Given the description of an element on the screen output the (x, y) to click on. 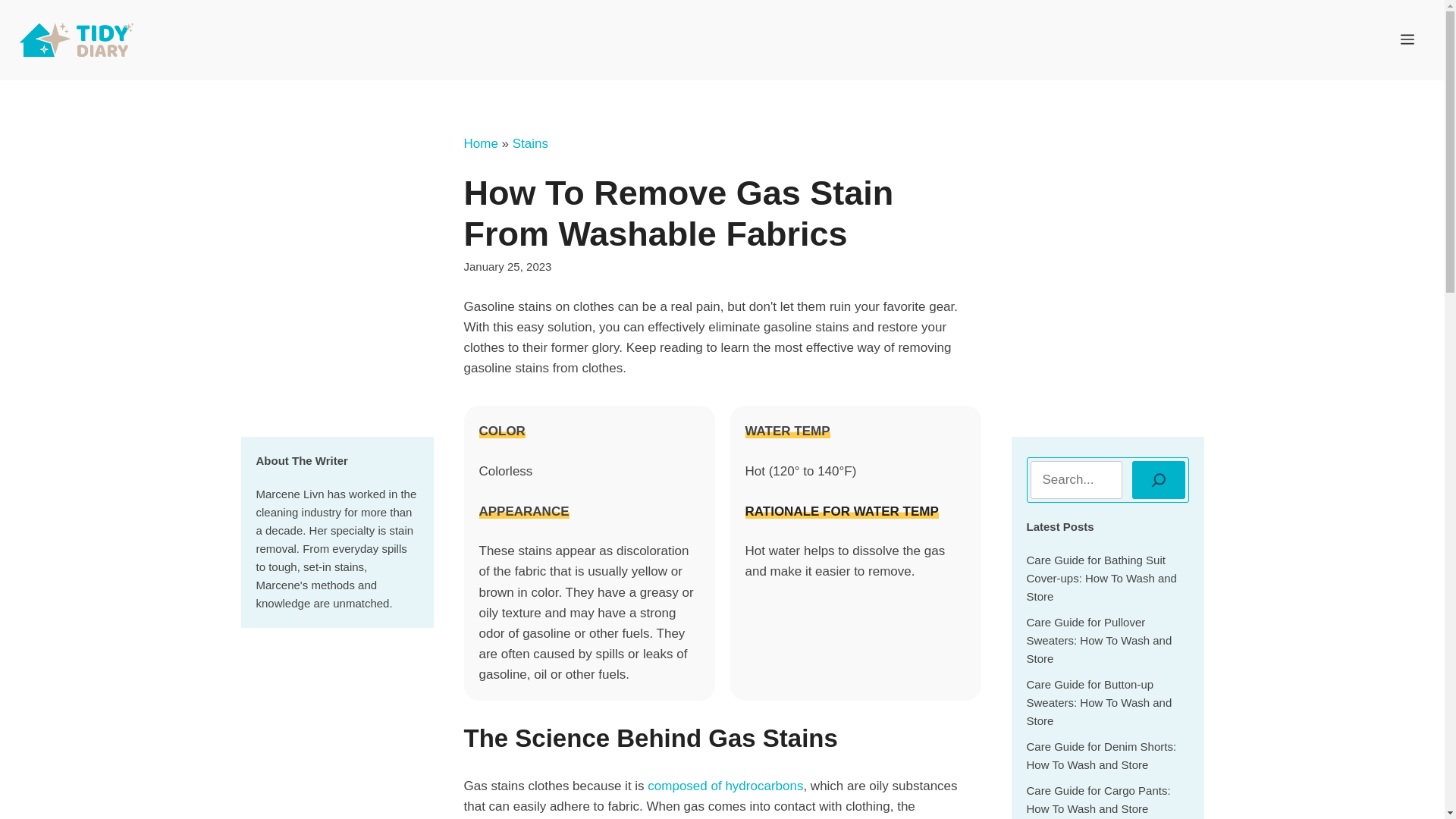
Menu (1407, 40)
composed of hydrocarbons (725, 785)
Care Guide for Cargo Pants: How To Wash and Store (1098, 798)
Stains (530, 143)
Home (480, 143)
Care Guide for Denim Shorts: How To Wash and Store (1101, 755)
Care Guide for Pullover Sweaters: How To Wash and Store (1099, 640)
Care Guide for Button-up Sweaters: How To Wash and Store (1099, 702)
Care Guide for Bathing Suit Cover-ups: How To Wash and Store (1101, 577)
